Given the description of an element on the screen output the (x, y) to click on. 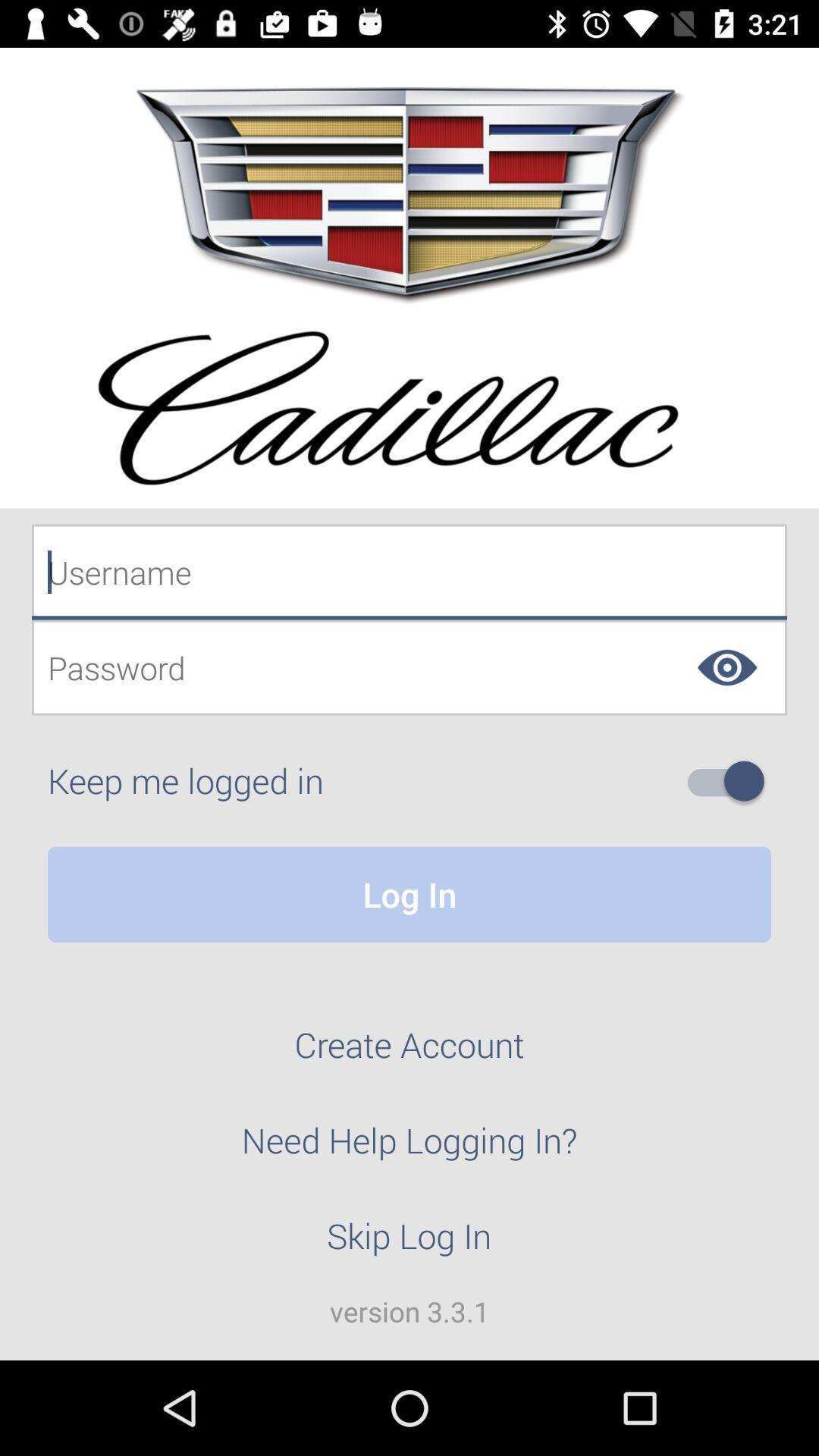
press the icon above skip log in item (409, 1149)
